Given the description of an element on the screen output the (x, y) to click on. 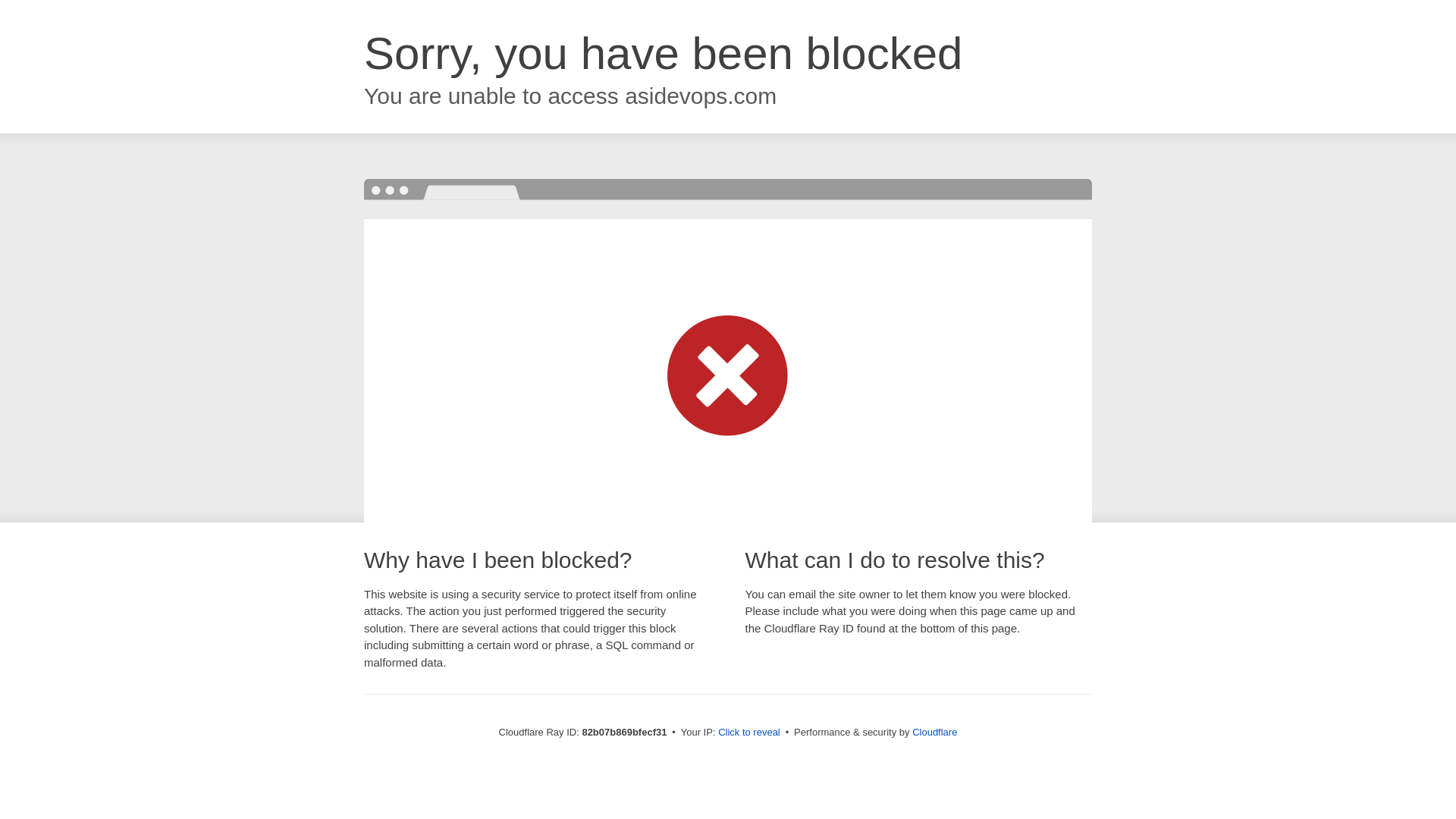
Cloudflare Element type: text (934, 731)
Click to reveal Element type: text (749, 732)
